Given the description of an element on the screen output the (x, y) to click on. 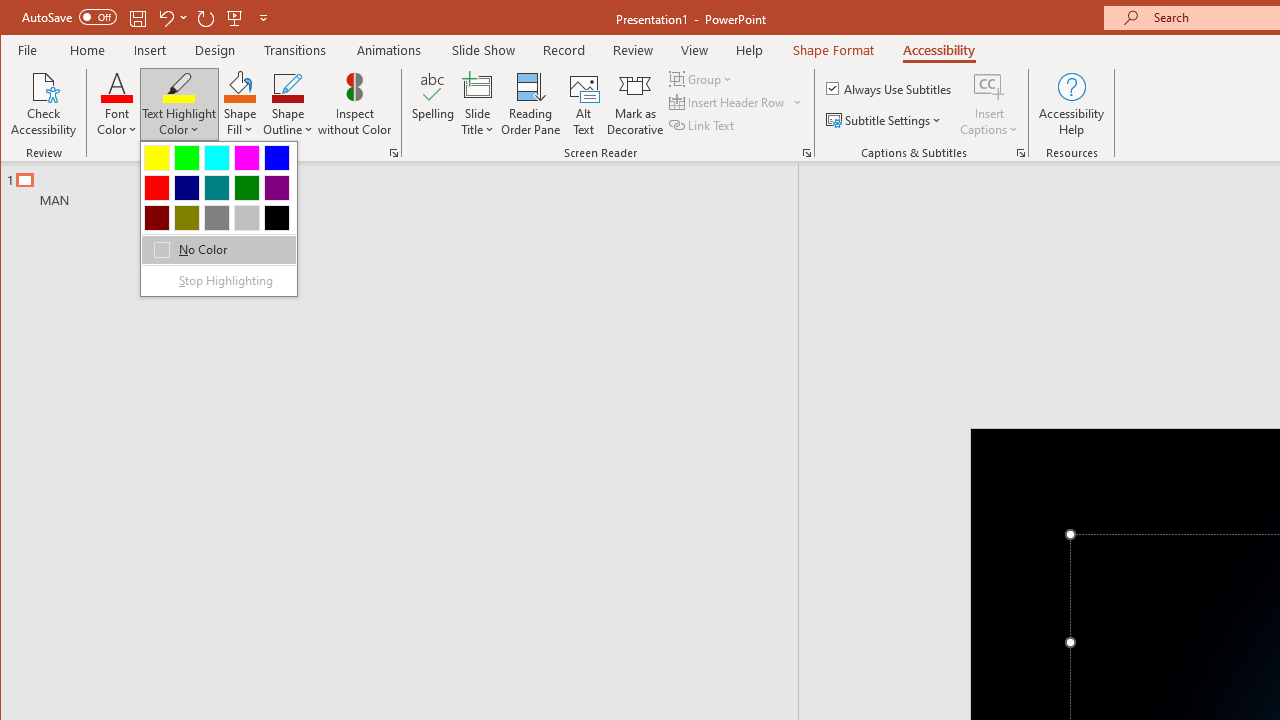
Alt Text (584, 104)
Screen Reader (806, 152)
Text H&ighlight Color (218, 218)
Always Use Subtitles (890, 88)
Insert Header Row (735, 101)
Mark as Decorative (635, 104)
Text Highlight Color No Color (178, 86)
